Given the description of an element on the screen output the (x, y) to click on. 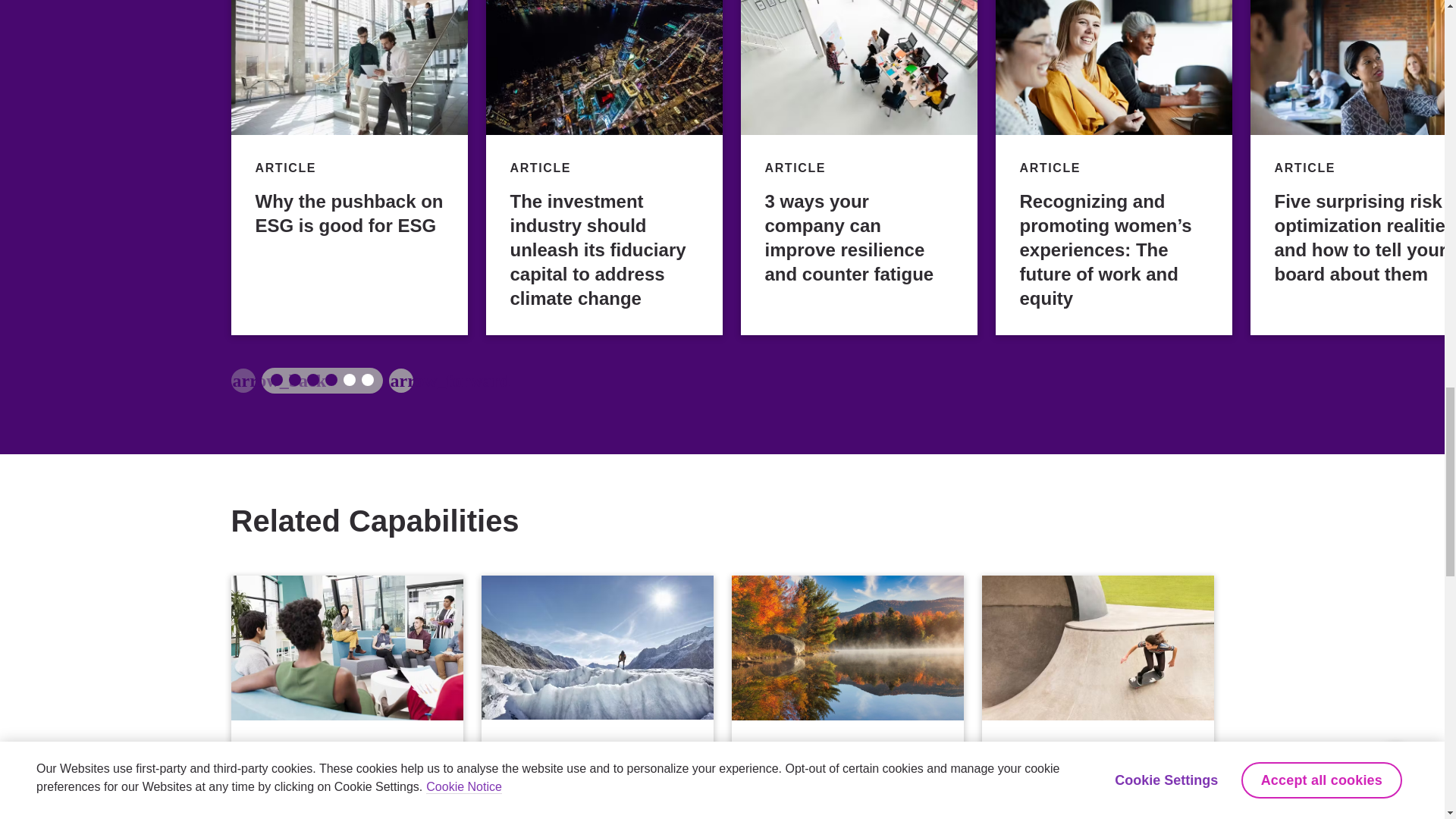
Climate Risk (596, 697)
Environmental Risks (846, 697)
ESG and Sustainability (346, 697)
